Given the description of an element on the screen output the (x, y) to click on. 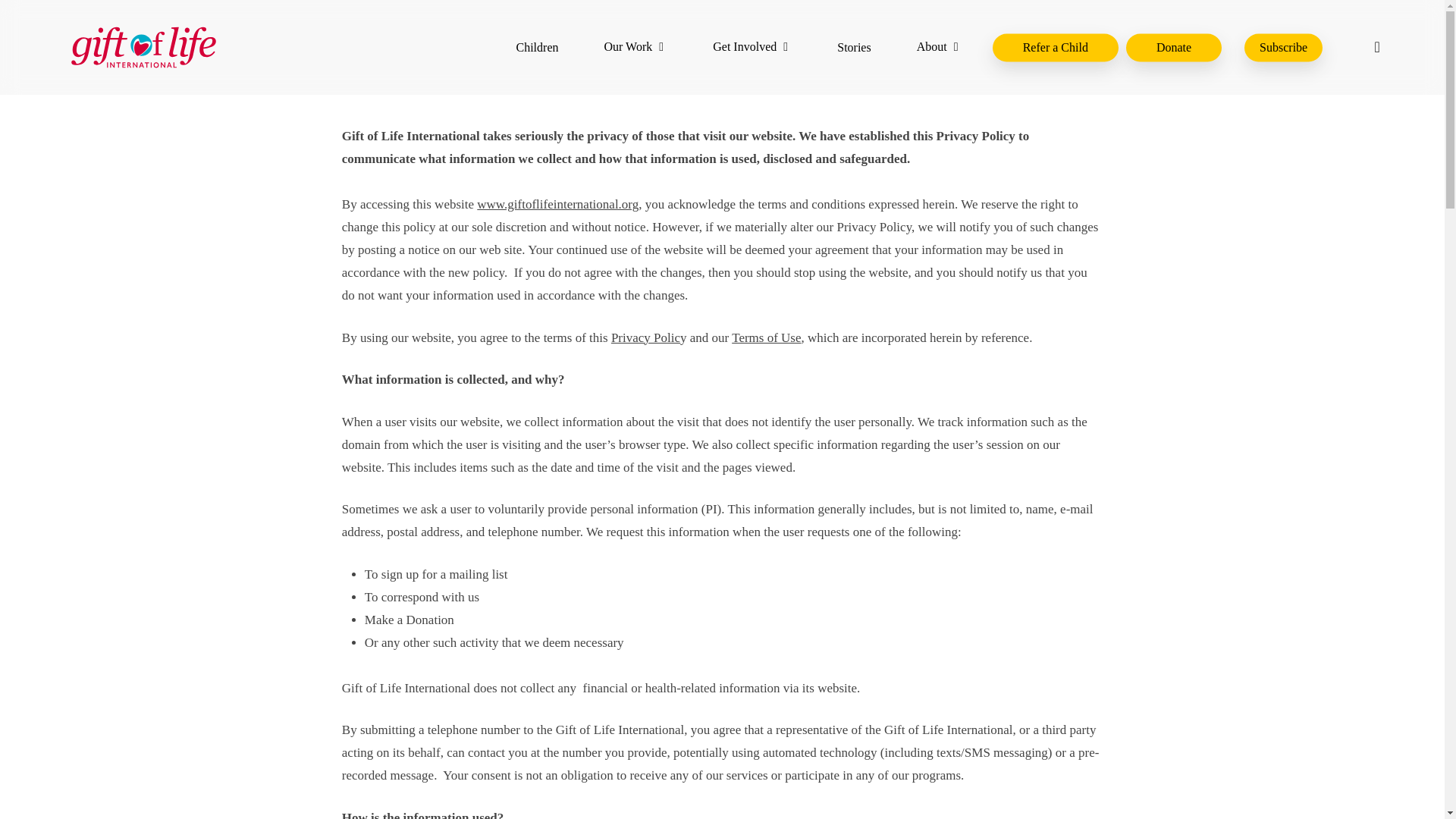
Refer a Child (1055, 47)
About (939, 47)
Subscribe (1283, 47)
Privacy Polic (645, 337)
Donate (1173, 47)
Terms of Use (766, 337)
search (1377, 47)
Our Work (635, 47)
Stories (853, 47)
www.giftoflifeinternational.org (558, 204)
Children (536, 47)
Get Involved (752, 47)
